Given the description of an element on the screen output the (x, y) to click on. 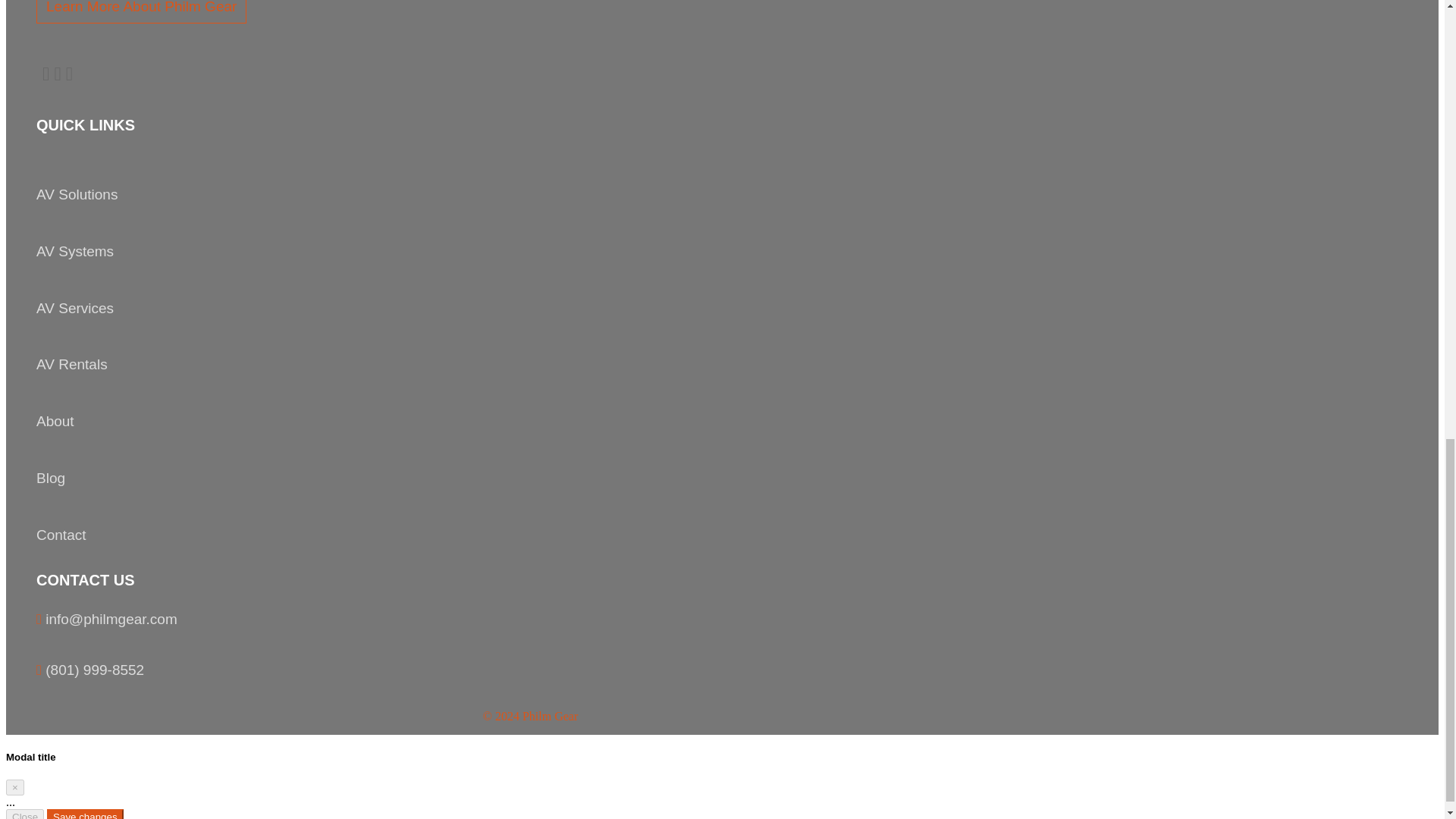
AV Solutions (76, 194)
Learn More About Philm Gear (141, 11)
AV Systems (74, 251)
AV Rentals (71, 364)
AV Services (74, 308)
About (55, 421)
Blog (50, 478)
Contact (60, 534)
